Given the description of an element on the screen output the (x, y) to click on. 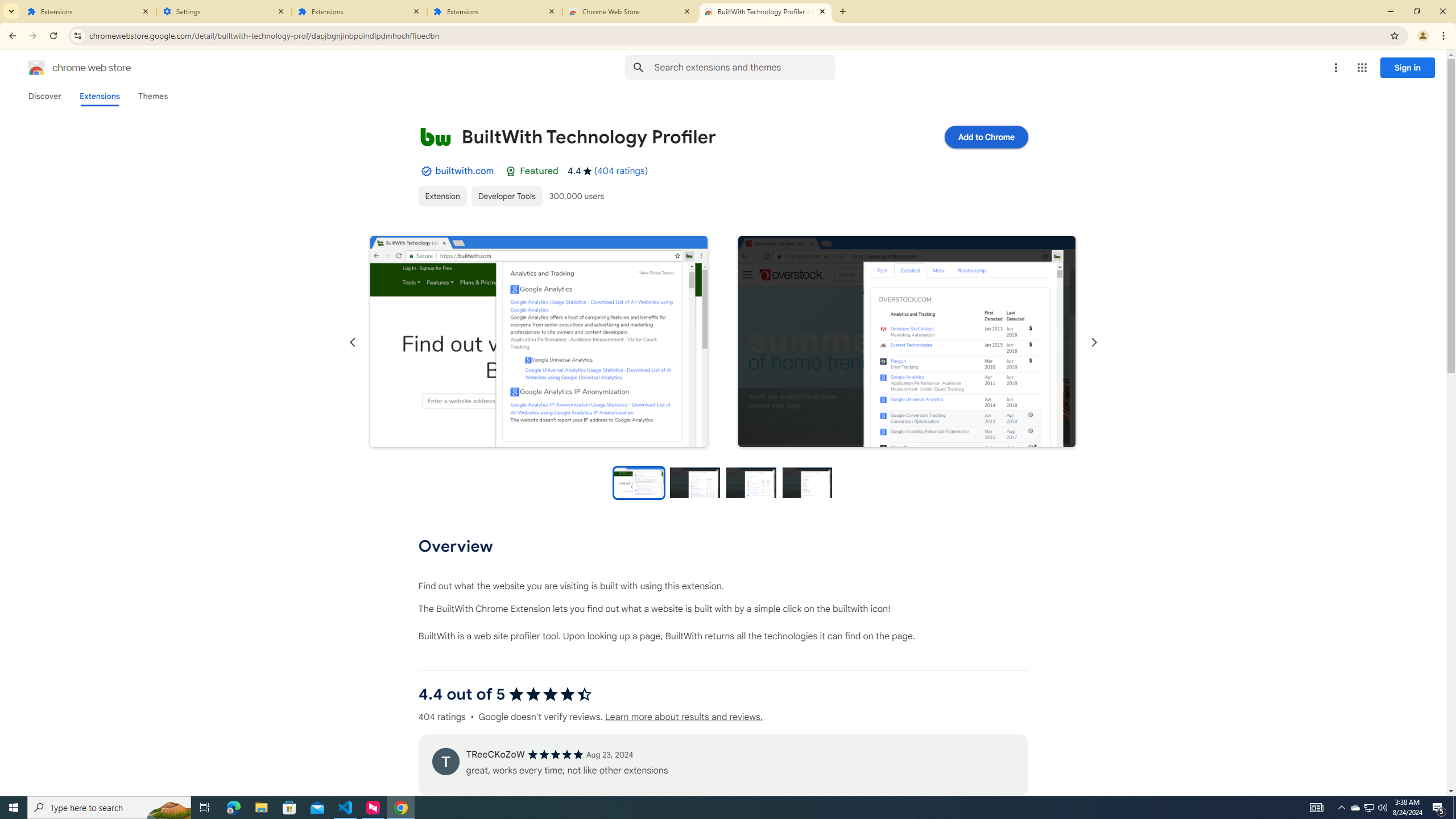
Chrome Web Store (630, 11)
Item media 1 screenshot (538, 341)
Settings (224, 11)
5 out of 5 stars (555, 753)
Item media 1 screenshot (538, 342)
Learn more about results and reviews. (683, 716)
Preview slide 2 (694, 482)
